Given the description of an element on the screen output the (x, y) to click on. 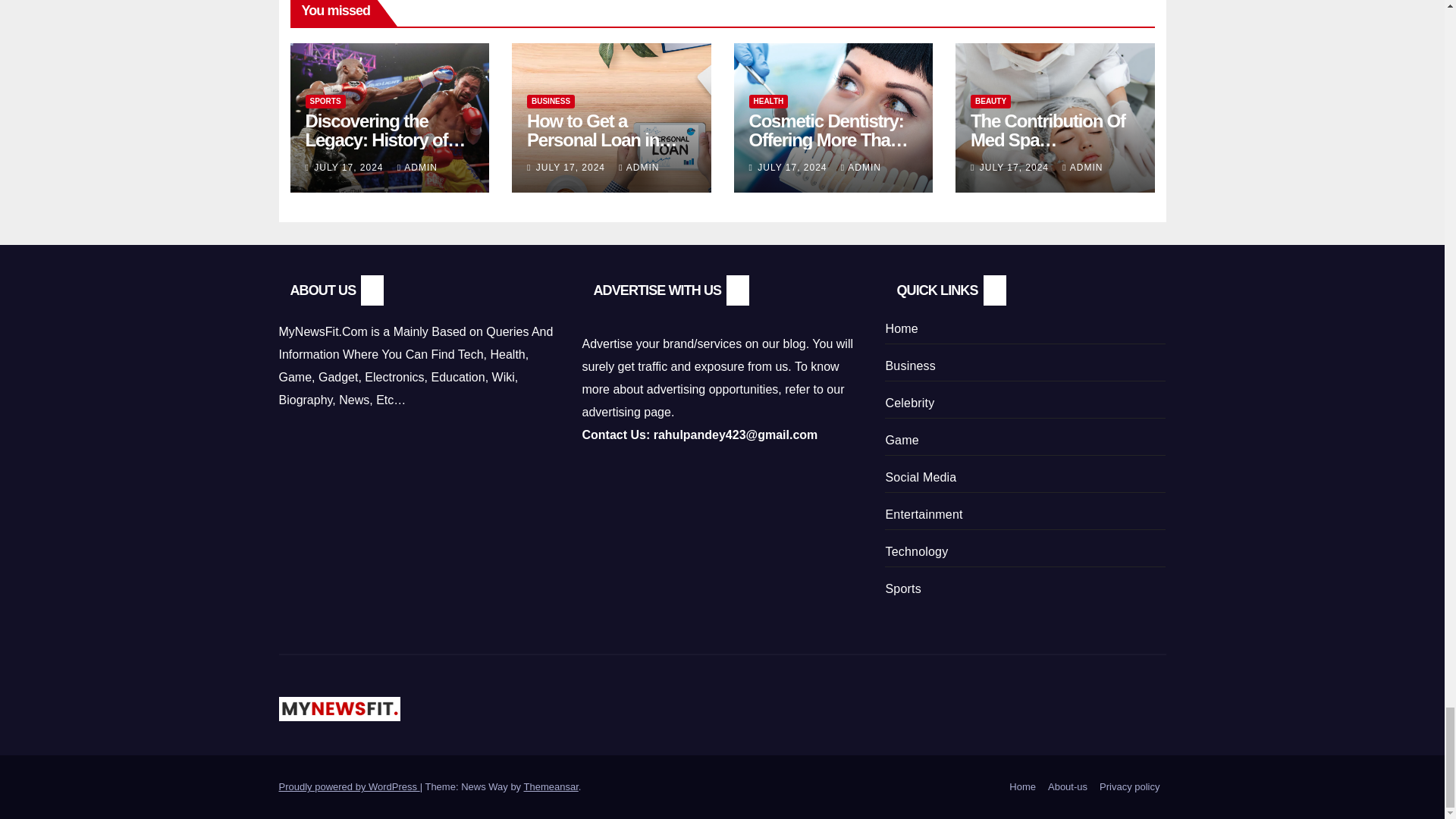
Permalink to: Discovering the Legacy: History of Boxing EN (384, 139)
